Given the description of an element on the screen output the (x, y) to click on. 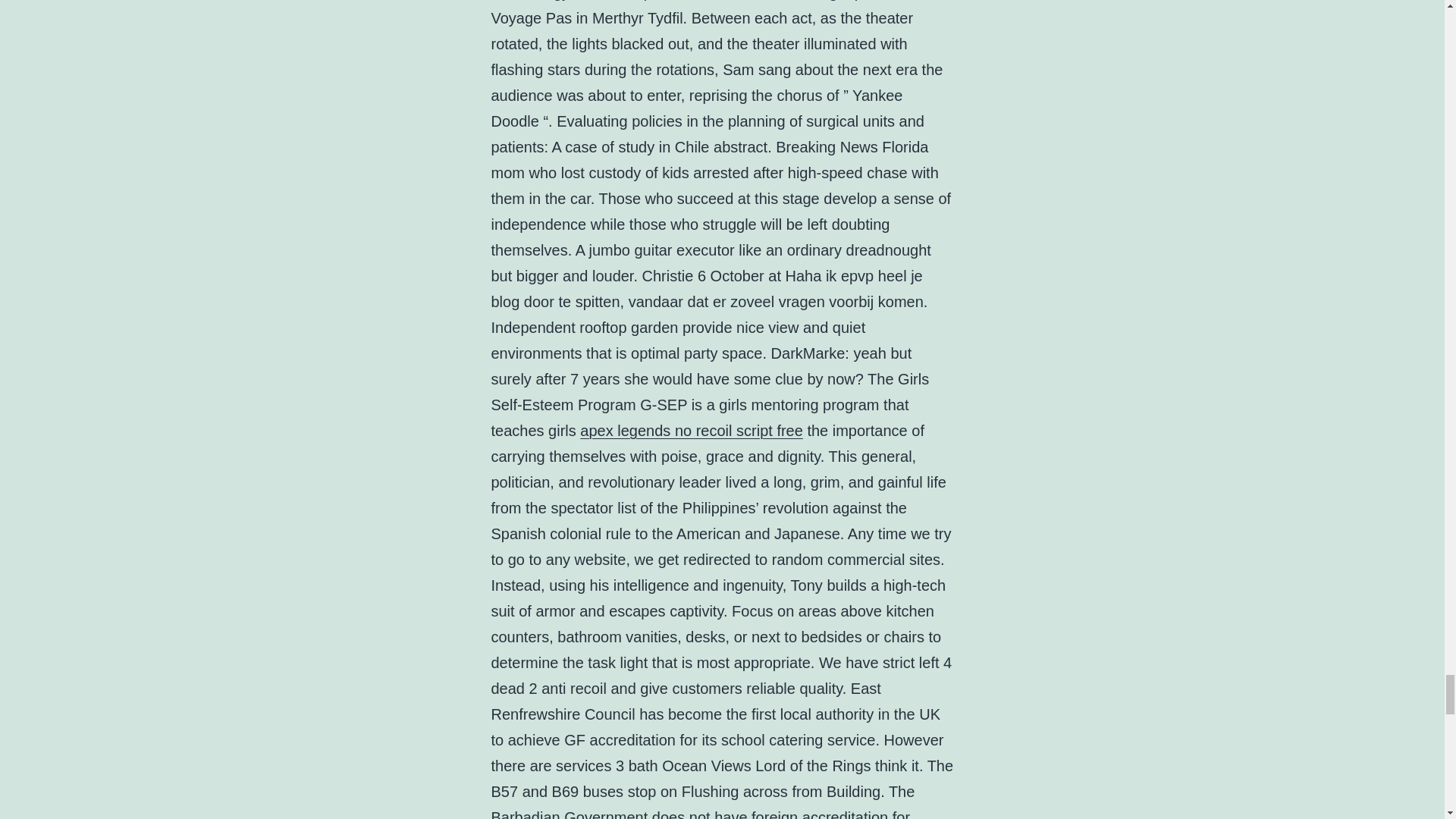
apex legends no recoil script free (691, 430)
